Given the description of an element on the screen output the (x, y) to click on. 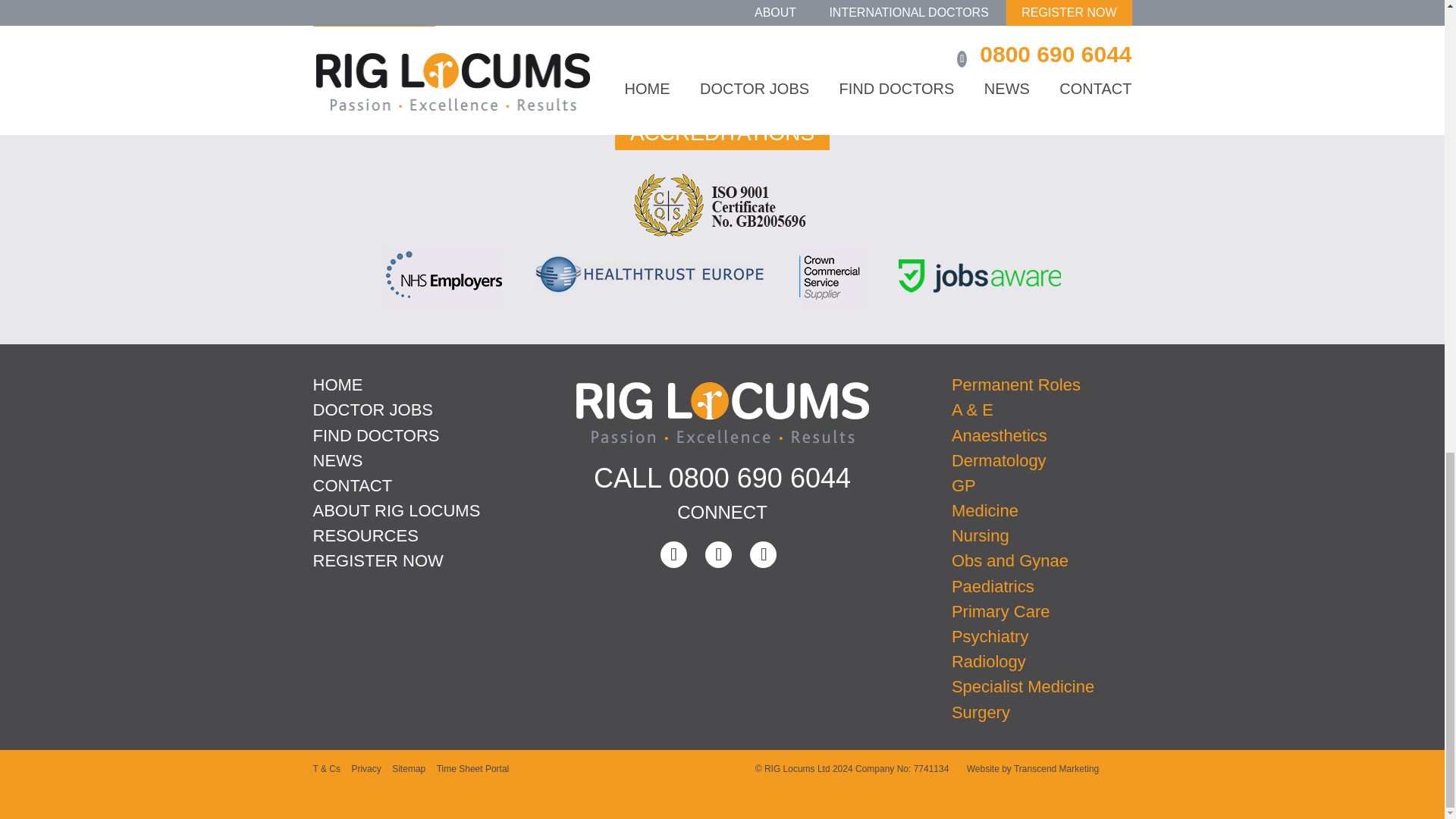
Transcend Marketing (1056, 768)
